Given the description of an element on the screen output the (x, y) to click on. 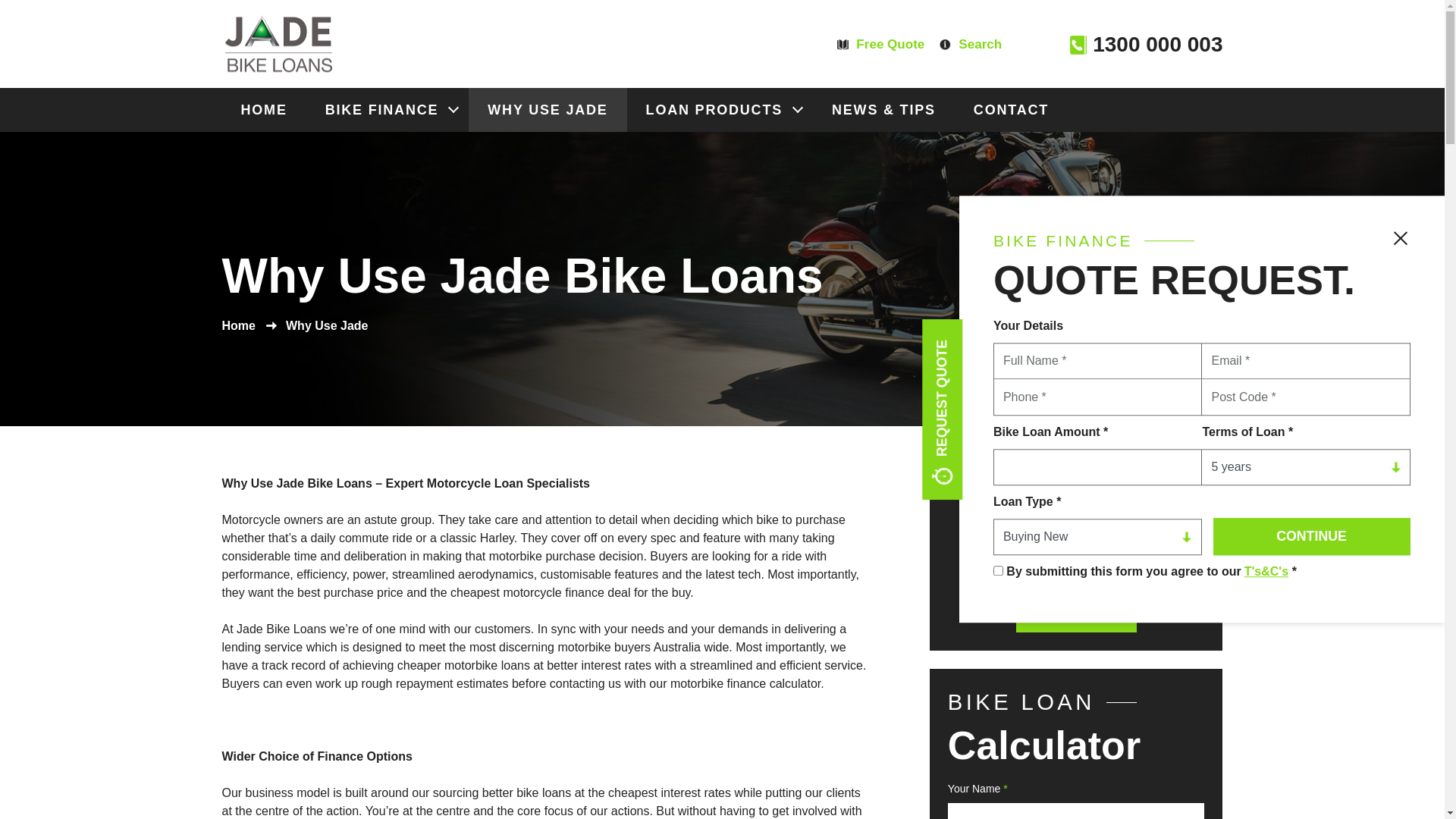
WHY USE JADE Element type: text (547, 109)
LOAN PRODUCTS Element type: text (719, 109)
NEWS & TIPS Element type: text (883, 109)
Jade Bike Loans Element type: text (278, 43)
APPLY NOW Element type: text (1076, 611)
HOME Element type: text (263, 109)
Home Element type: text (237, 325)
T's&C's Element type: text (1266, 571)
1300 000 003 Element type: text (1146, 44)
Free Quote Element type: text (880, 44)
Search Element type: text (970, 44)
Continue Element type: text (1311, 536)
BIKE FINANCE Element type: text (387, 109)
REQUEST QUOTE Element type: text (1012, 339)
CONTACT Element type: text (1010, 109)
Why Use Jade Element type: text (326, 325)
